Given the description of an element on the screen output the (x, y) to click on. 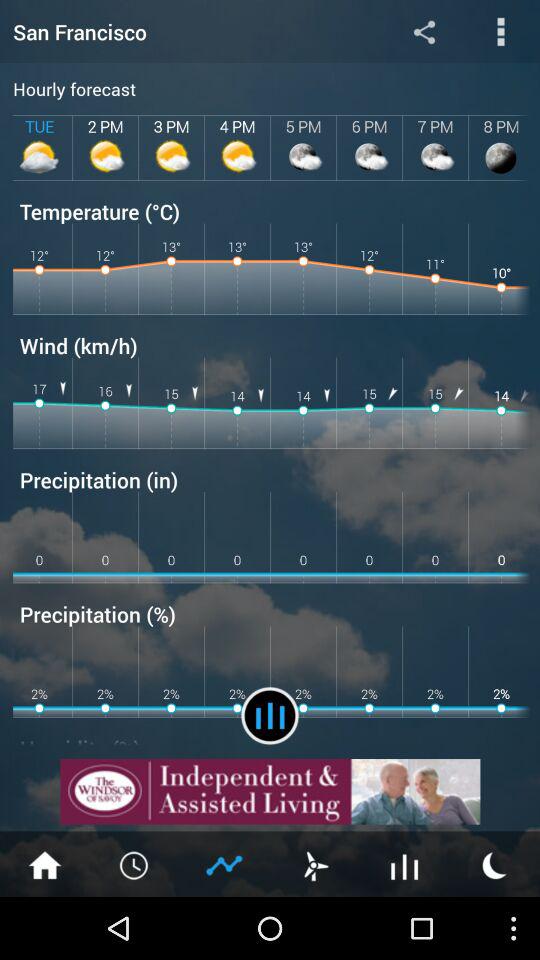
shows the share option (424, 31)
